Given the description of an element on the screen output the (x, y) to click on. 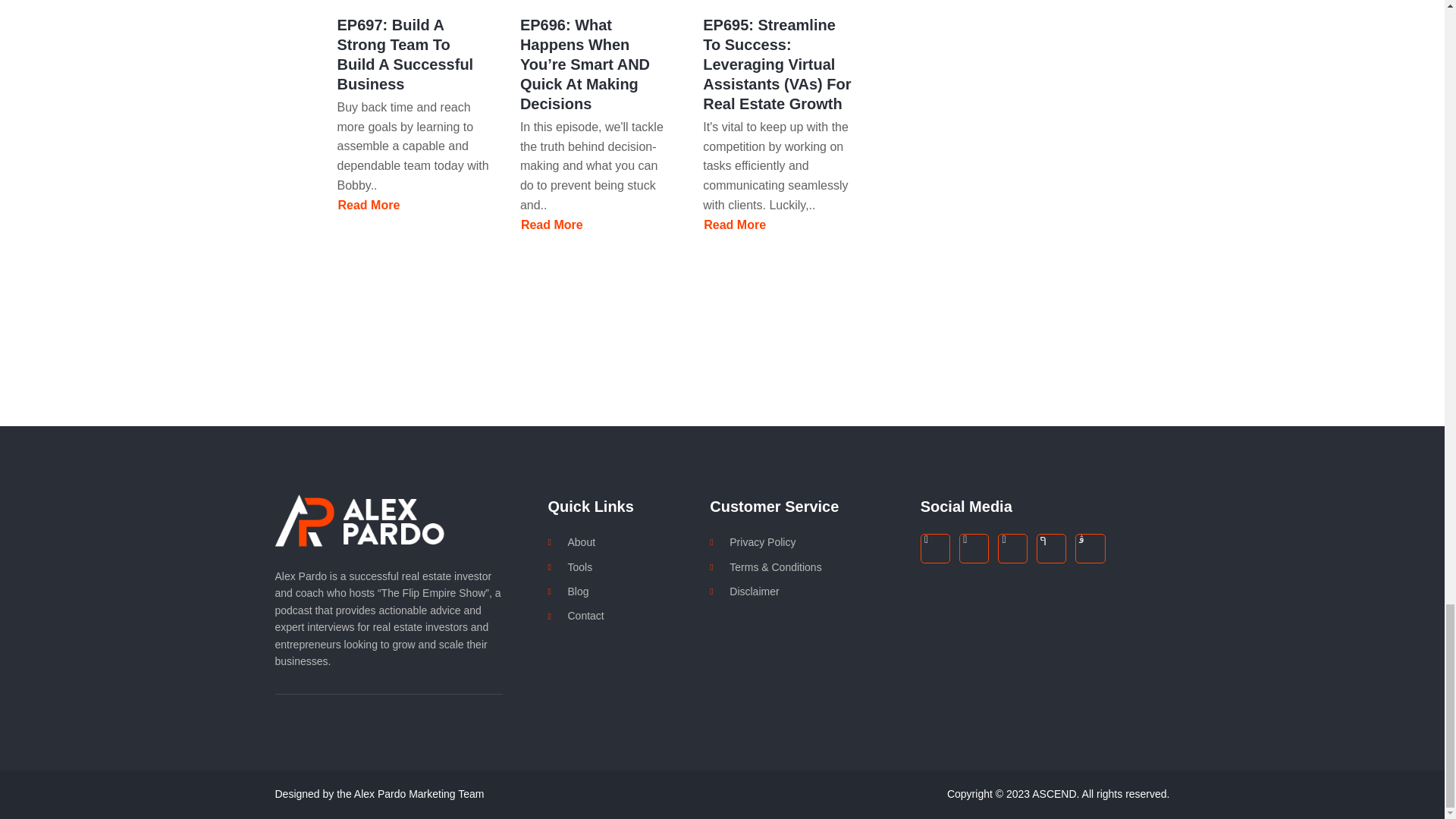
EP697: Build A Strong Team To Build A Successful Business (368, 205)
Blog (628, 591)
Read More (368, 205)
Tools (628, 566)
Contact (628, 615)
Read More (551, 224)
EP697: Build A Strong Team To Build A Successful Business (404, 54)
About (628, 541)
Read More (735, 224)
